Given the description of an element on the screen output the (x, y) to click on. 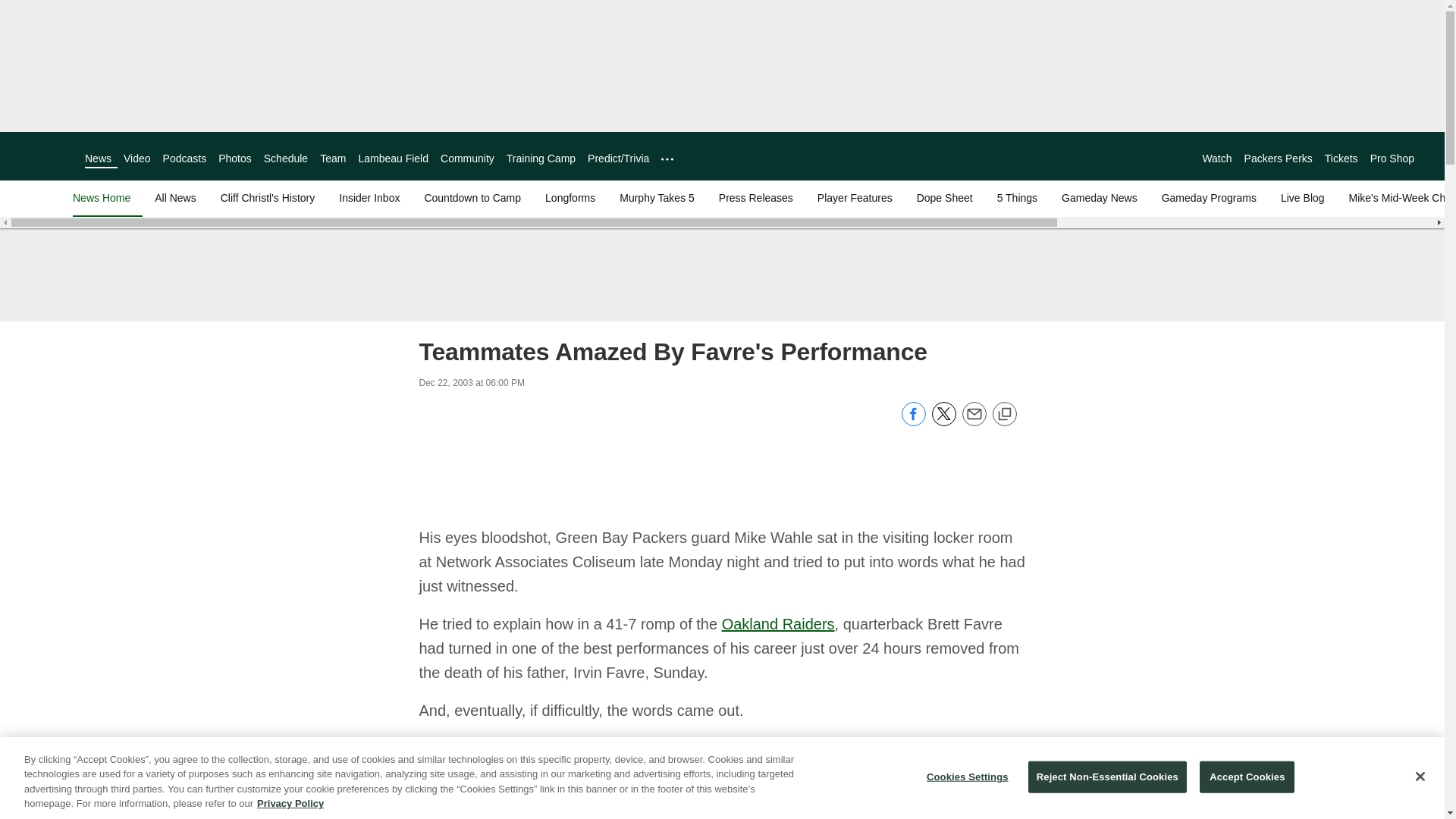
Team (333, 157)
Murphy Takes 5 (656, 197)
News Home (104, 197)
Gameday News (1098, 197)
Player Features (854, 197)
Lambeau Field (393, 157)
Video (137, 157)
Photos (234, 157)
Photos (234, 157)
Lambeau Field (393, 157)
